Given the description of an element on the screen output the (x, y) to click on. 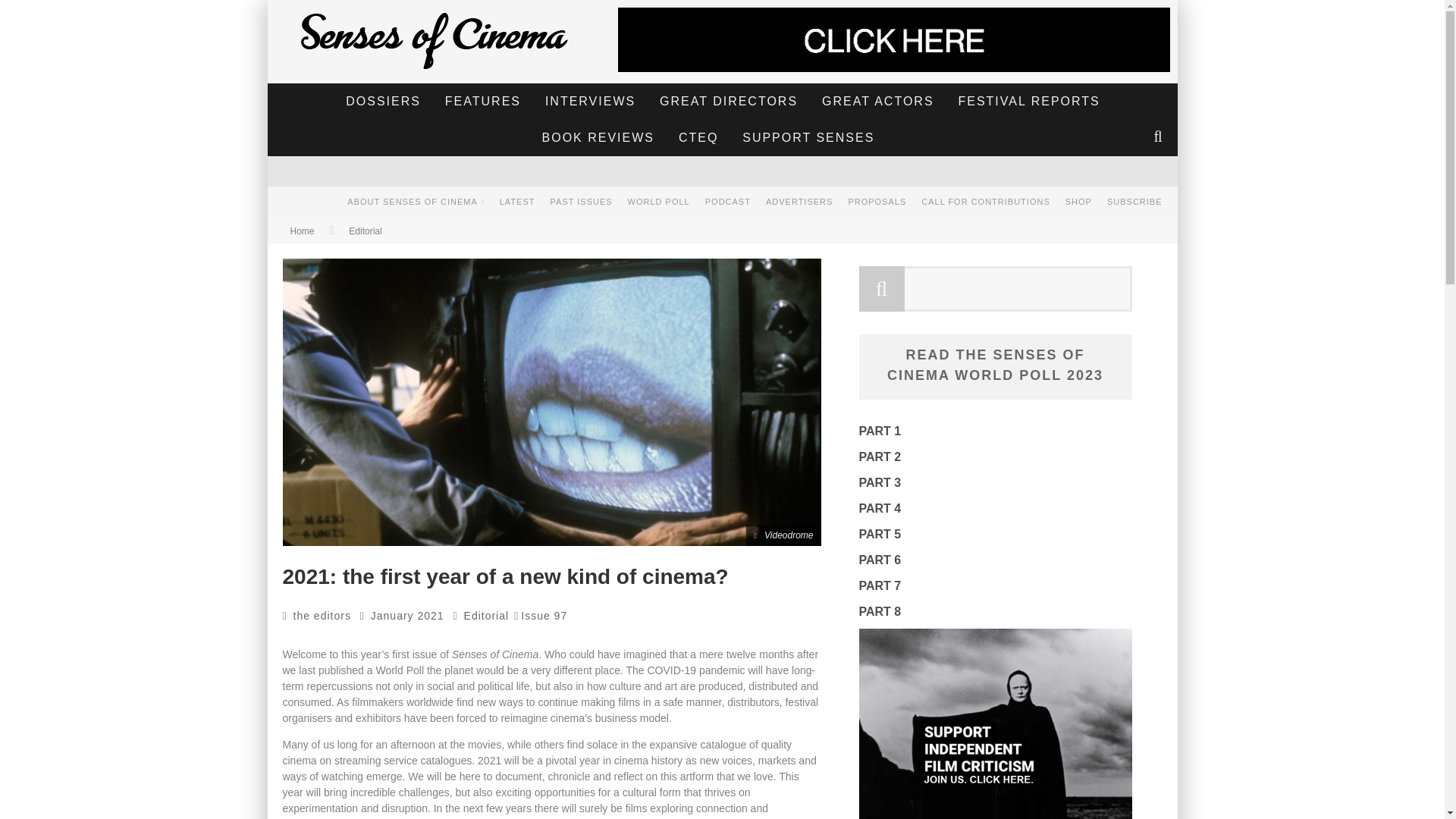
INTERVIEWS (590, 101)
DOSSIERS (383, 101)
FEATURES (482, 101)
